Given the description of an element on the screen output the (x, y) to click on. 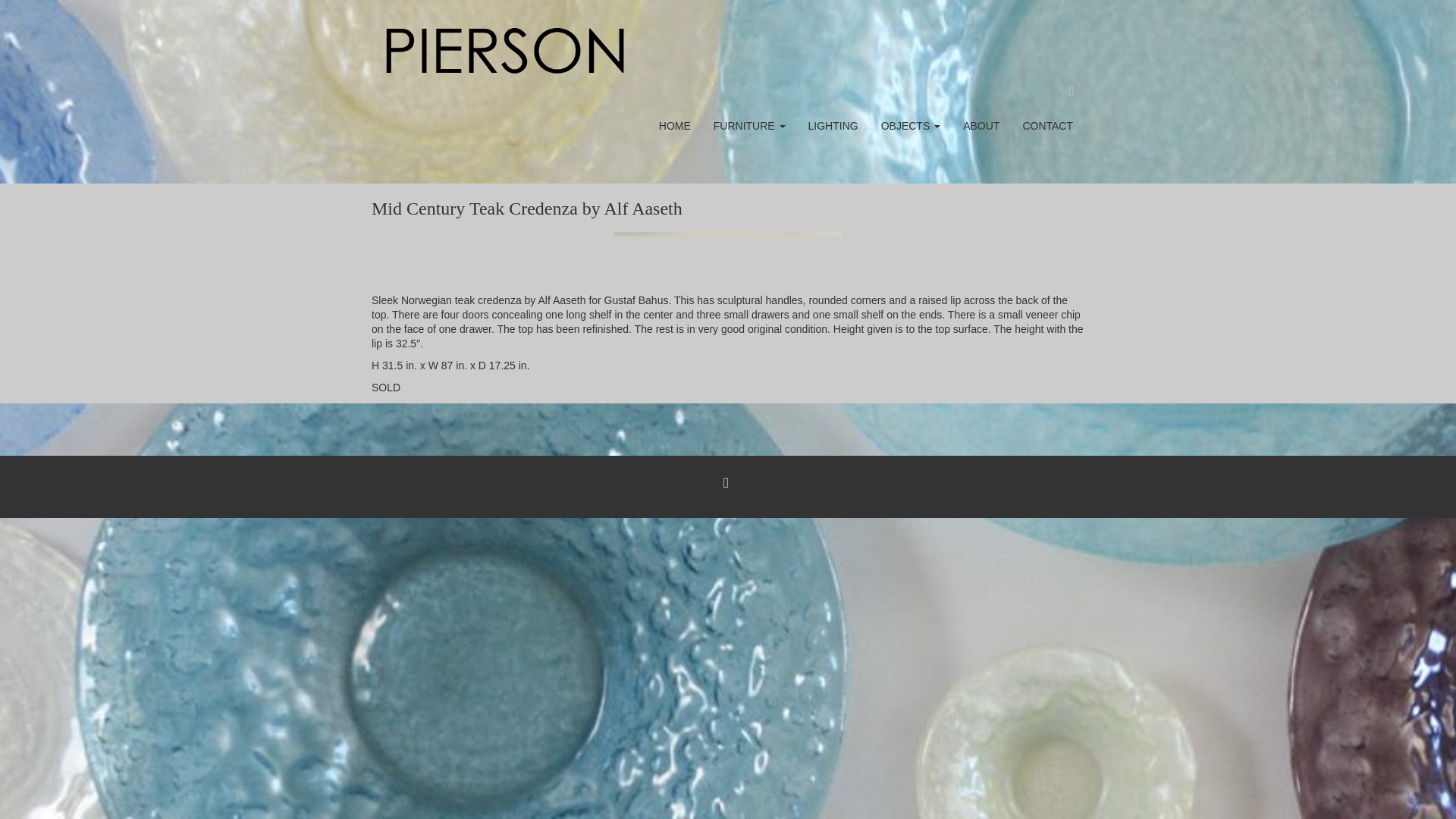
OBJECTS (910, 125)
FURNITURE (748, 125)
LIGHTING (832, 125)
HOME (674, 125)
CONTACT (1047, 125)
CONTACT (1047, 125)
ABOUT (981, 125)
FURNITURE (748, 125)
LIGHTING (832, 125)
INSTAGRAM (726, 481)
